Given the description of an element on the screen output the (x, y) to click on. 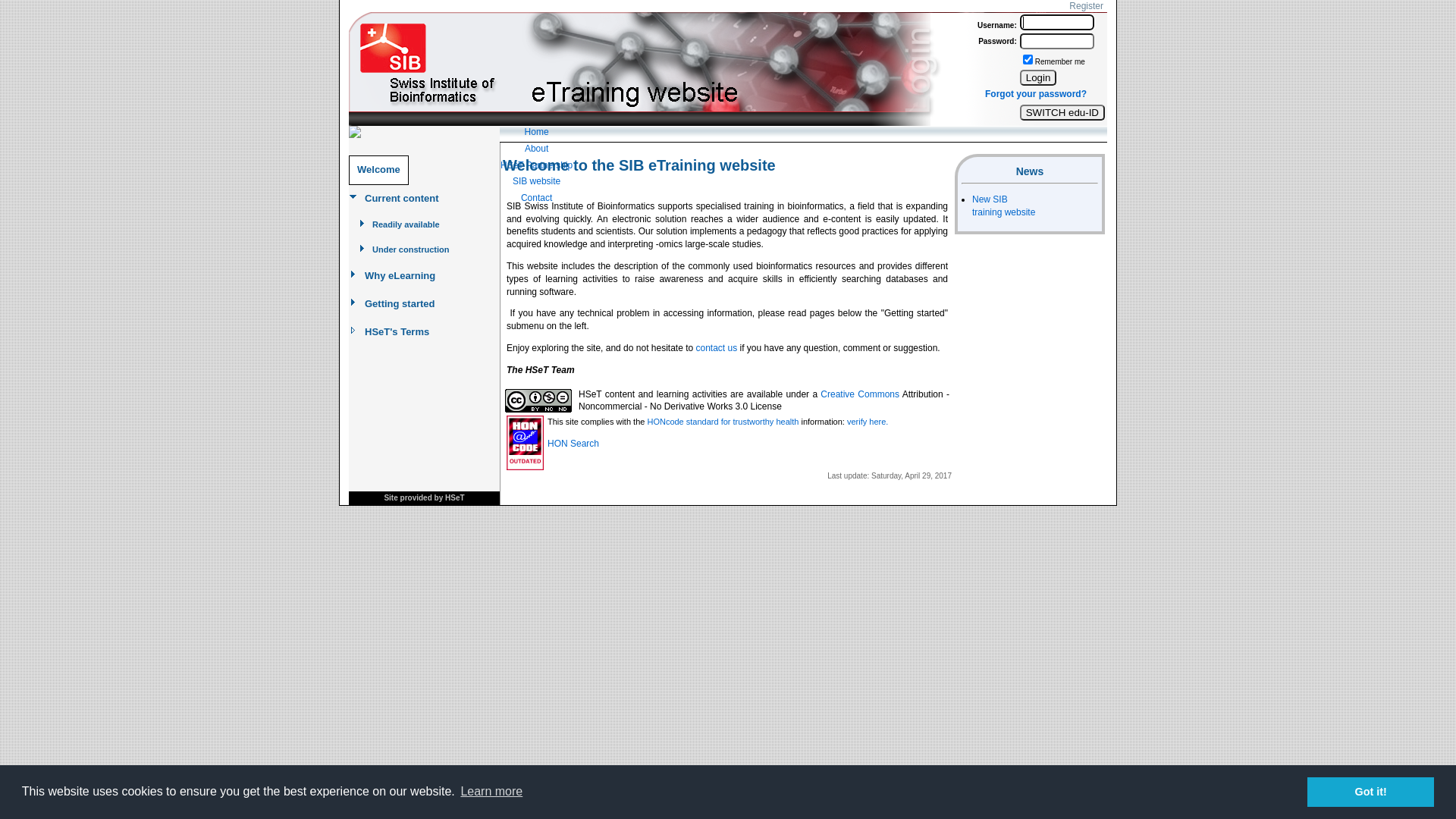
Login Element type: text (1038, 77)
HON Search Element type: text (573, 443)
Learn more Element type: text (491, 791)
Password Element type: hover (1056, 41)
verify here. Element type: text (867, 421)
Got it! Element type: text (1370, 791)
New SIB
training website Element type: text (1003, 205)
SWITCH edu-ID Element type: text (1061, 112)
Site provided by HSeT Element type: text (423, 497)
Contact Element type: text (536, 197)
Register Element type: text (1086, 5)
contact us Element type: text (716, 347)
Forgot your password? Element type: text (1035, 93)
SIB website Element type: text (536, 181)
Creative Commons Element type: text (859, 394)
About Element type: text (536, 148)
Home Element type: text (536, 131)
HONcode standard for trustworthy health Element type: text (722, 421)
Login Element type: hover (1056, 22)
HSeT Partnership Element type: text (536, 165)
